Given the description of an element on the screen output the (x, y) to click on. 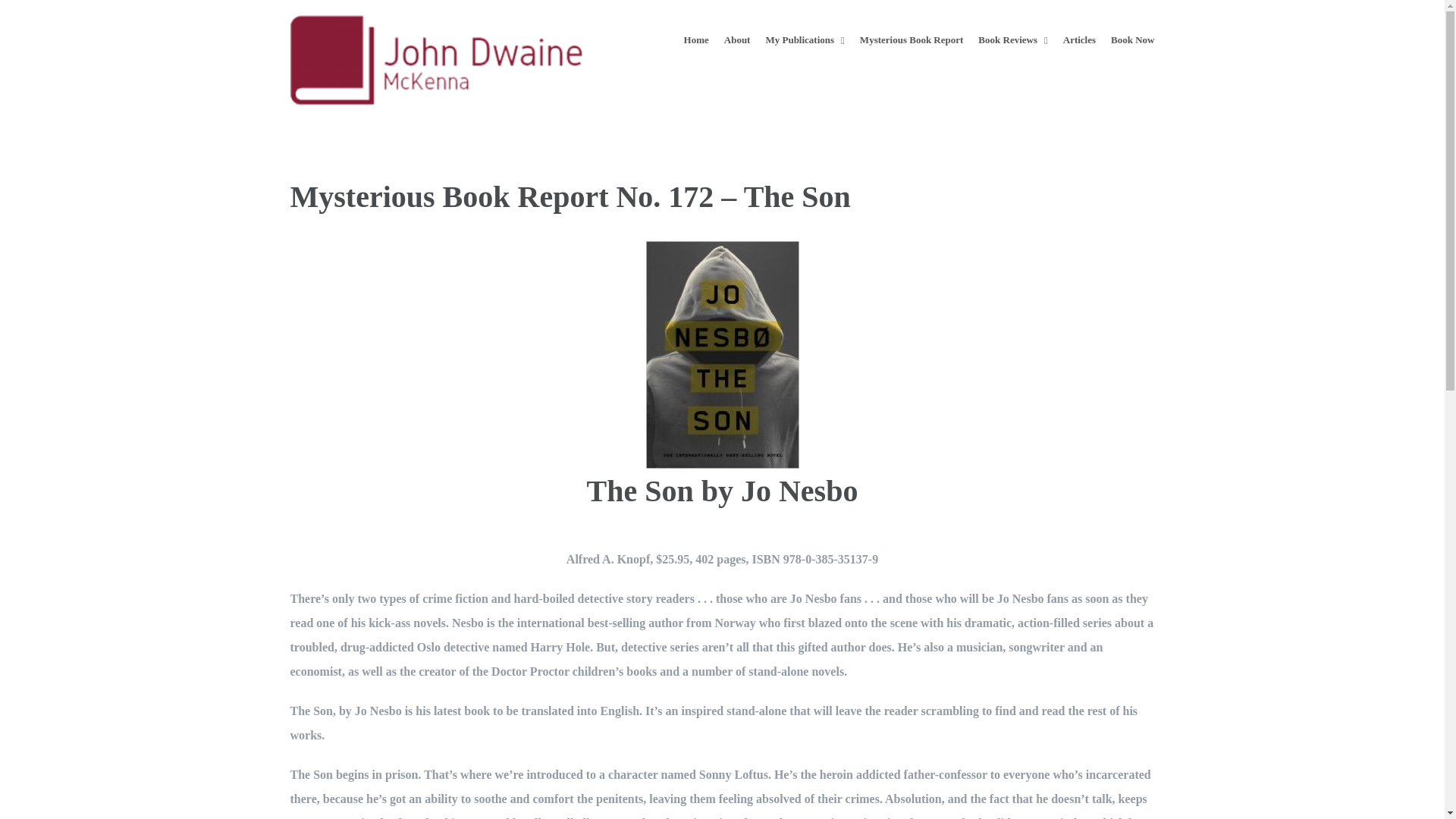
Book Reviews (1012, 40)
Mysterious Book Report (911, 40)
My Publications (804, 40)
